Given the description of an element on the screen output the (x, y) to click on. 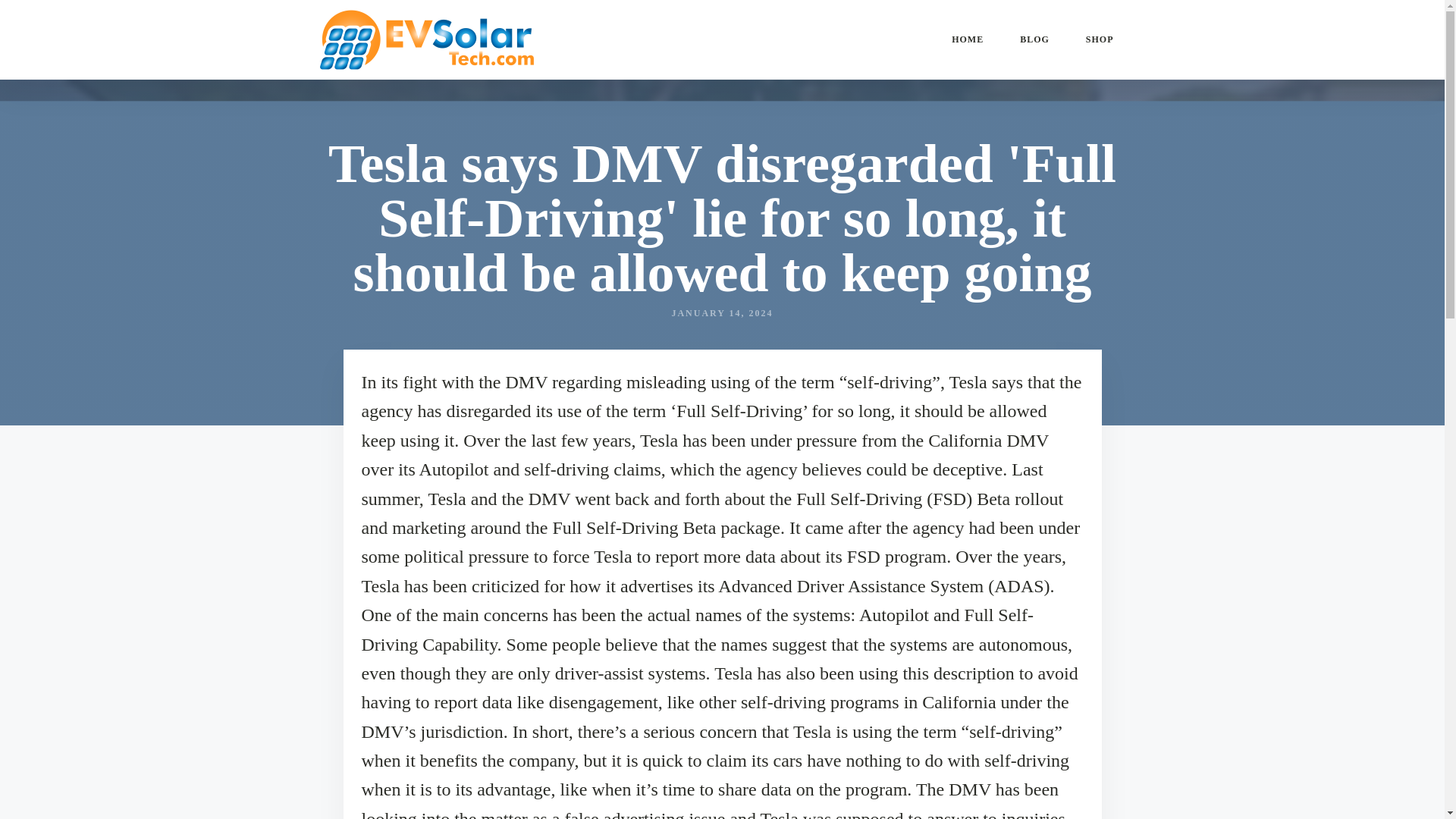
HOME (967, 39)
BLOG (1034, 39)
SHOP (1099, 39)
